Given the description of an element on the screen output the (x, y) to click on. 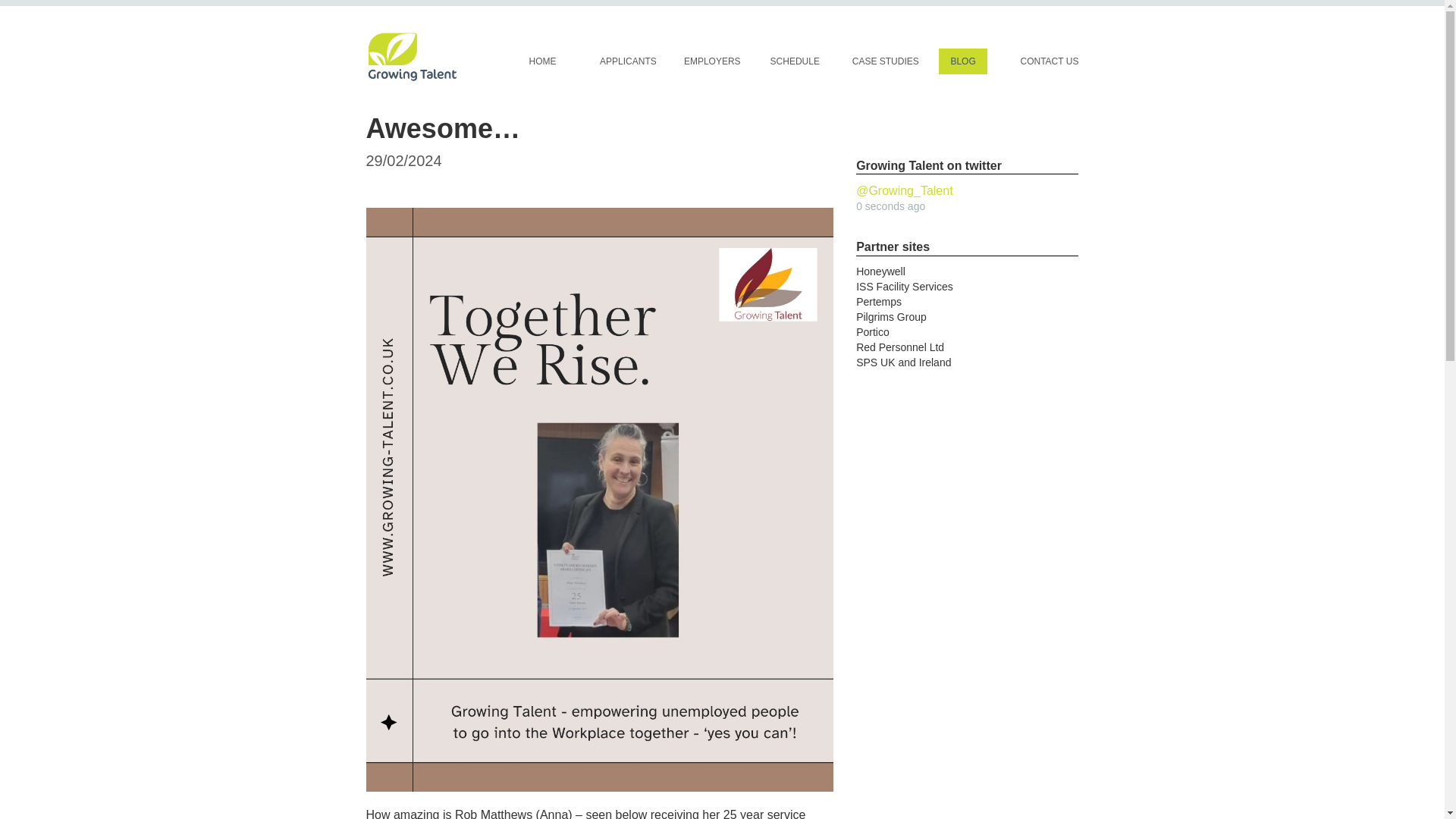
EMPLOYERS (712, 61)
APPLICANTS (628, 61)
SPS UK and Ireland (903, 362)
SCHEDULE (794, 61)
Pertemps (878, 301)
HOME (542, 61)
CONTACT US (1049, 61)
BLOG (963, 61)
ISS Facility Services (904, 286)
Pilgrims Group (891, 316)
